Given the description of an element on the screen output the (x, y) to click on. 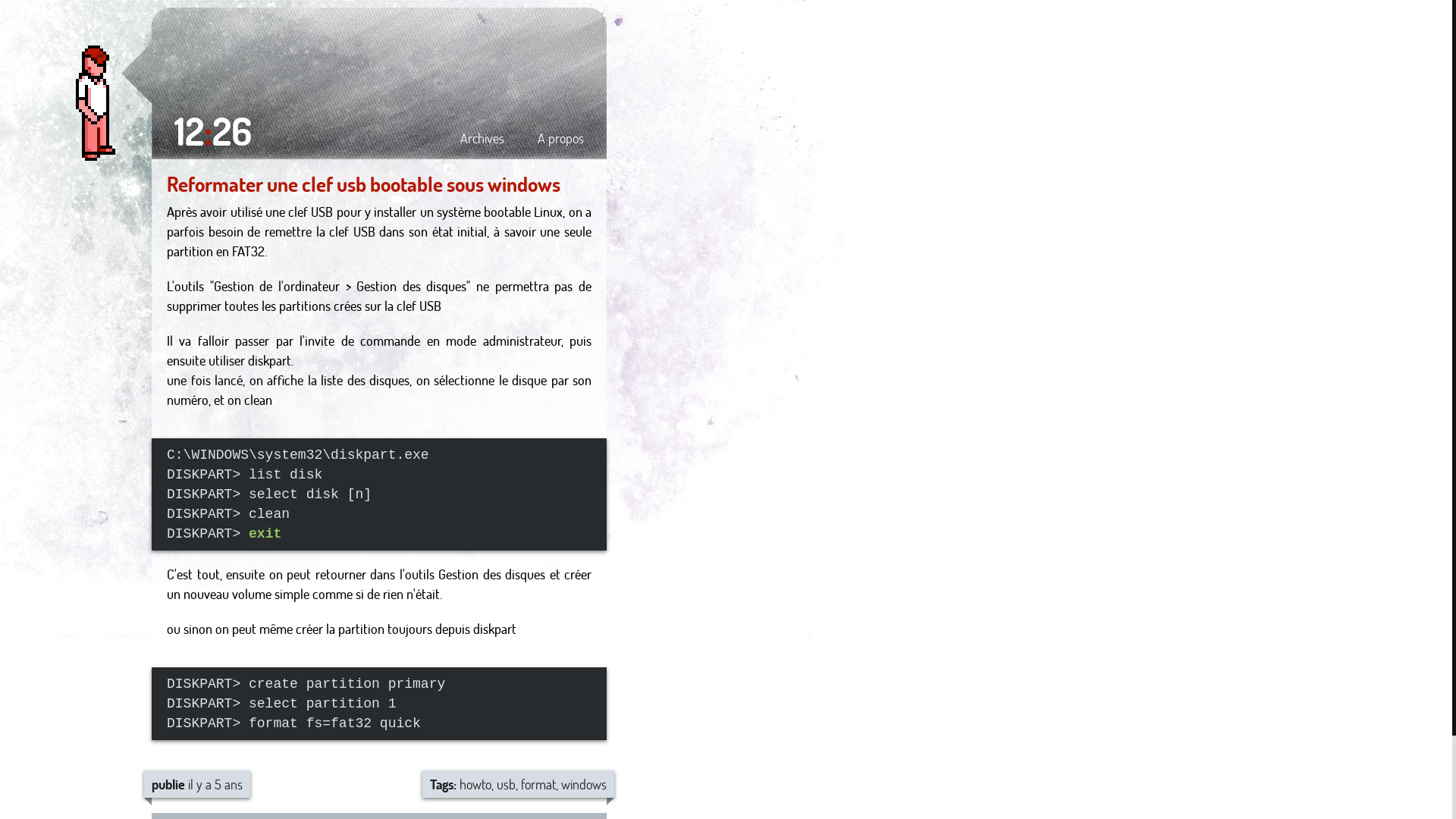
A propos Element type: text (560, 137)
Archives Element type: text (482, 137)
12:26 Element type: text (212, 130)
